Given the description of an element on the screen output the (x, y) to click on. 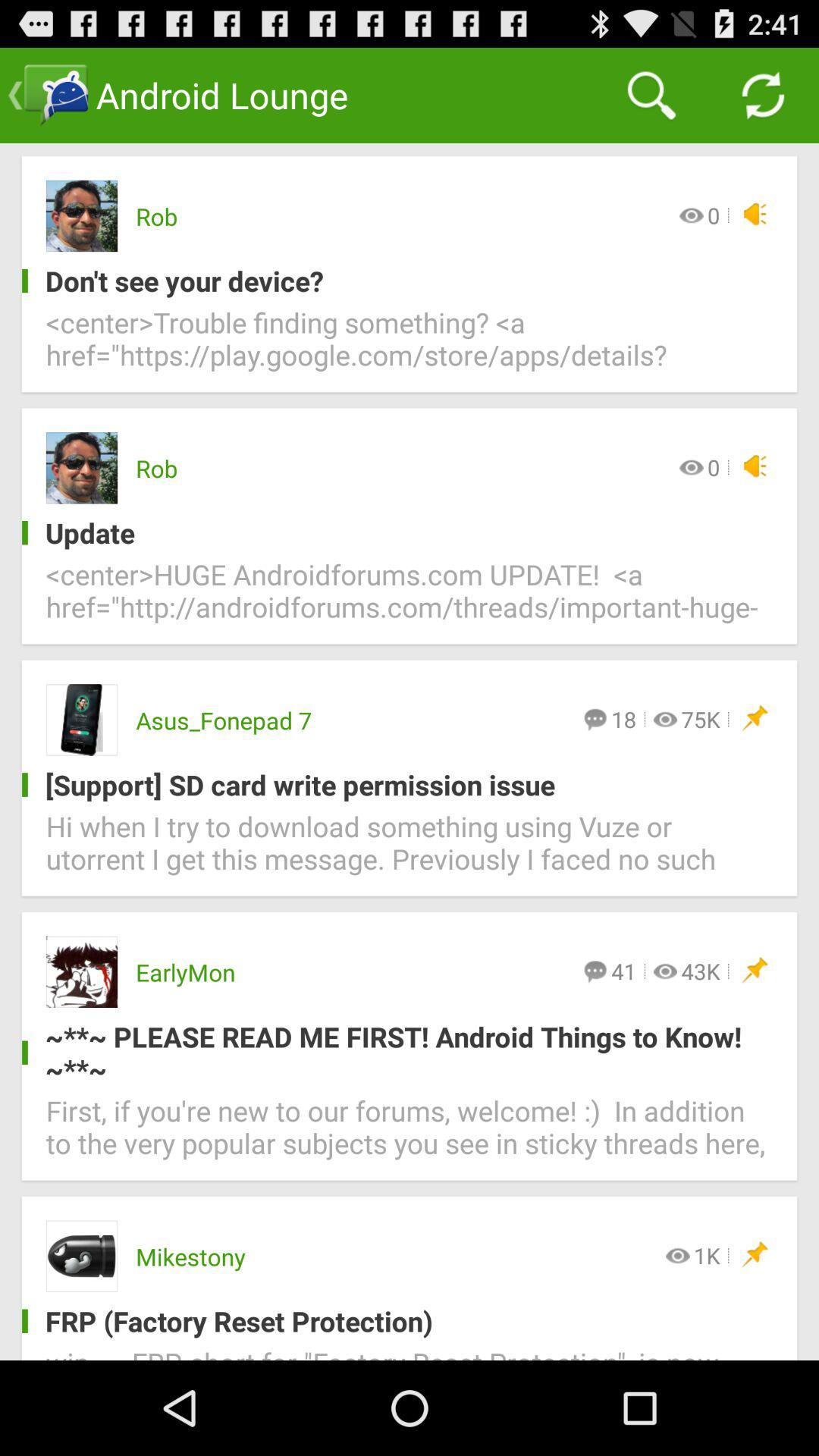
open the item below center huge androidforums icon (700, 719)
